Given the description of an element on the screen output the (x, y) to click on. 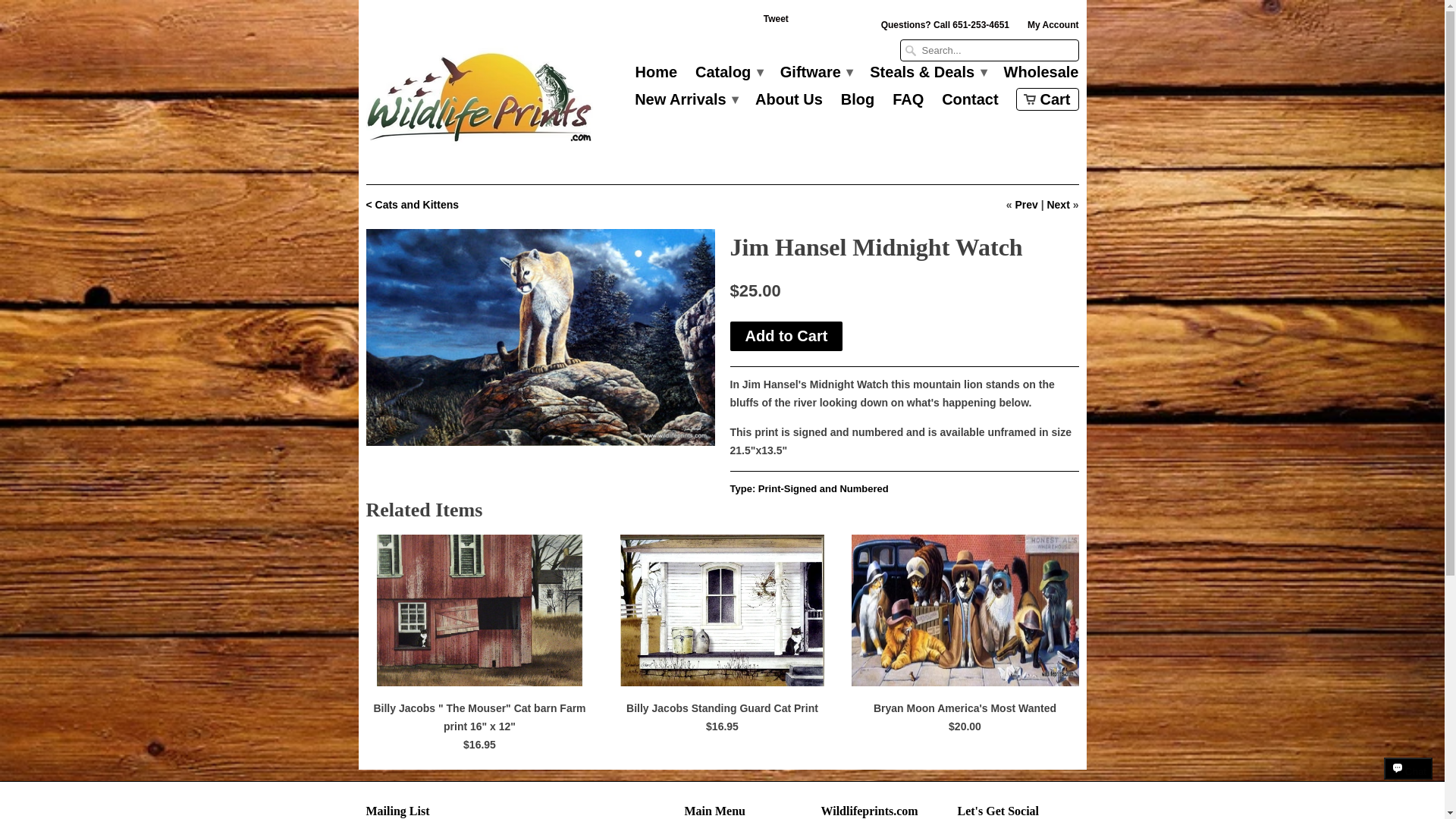
WildlifePrints.com  (478, 101)
Tweet (775, 22)
Wholesale (1041, 75)
Giftware (815, 76)
About Us (788, 102)
My Account  (1052, 28)
Add to Cart (786, 336)
Contact (969, 102)
Cart (1047, 98)
Questions? Call 651-253-4651 (944, 28)
Home (656, 75)
Blog (858, 102)
FAQ (907, 102)
Questions? Call 651-253-4651 (944, 28)
My Account (1052, 28)
